Given the description of an element on the screen output the (x, y) to click on. 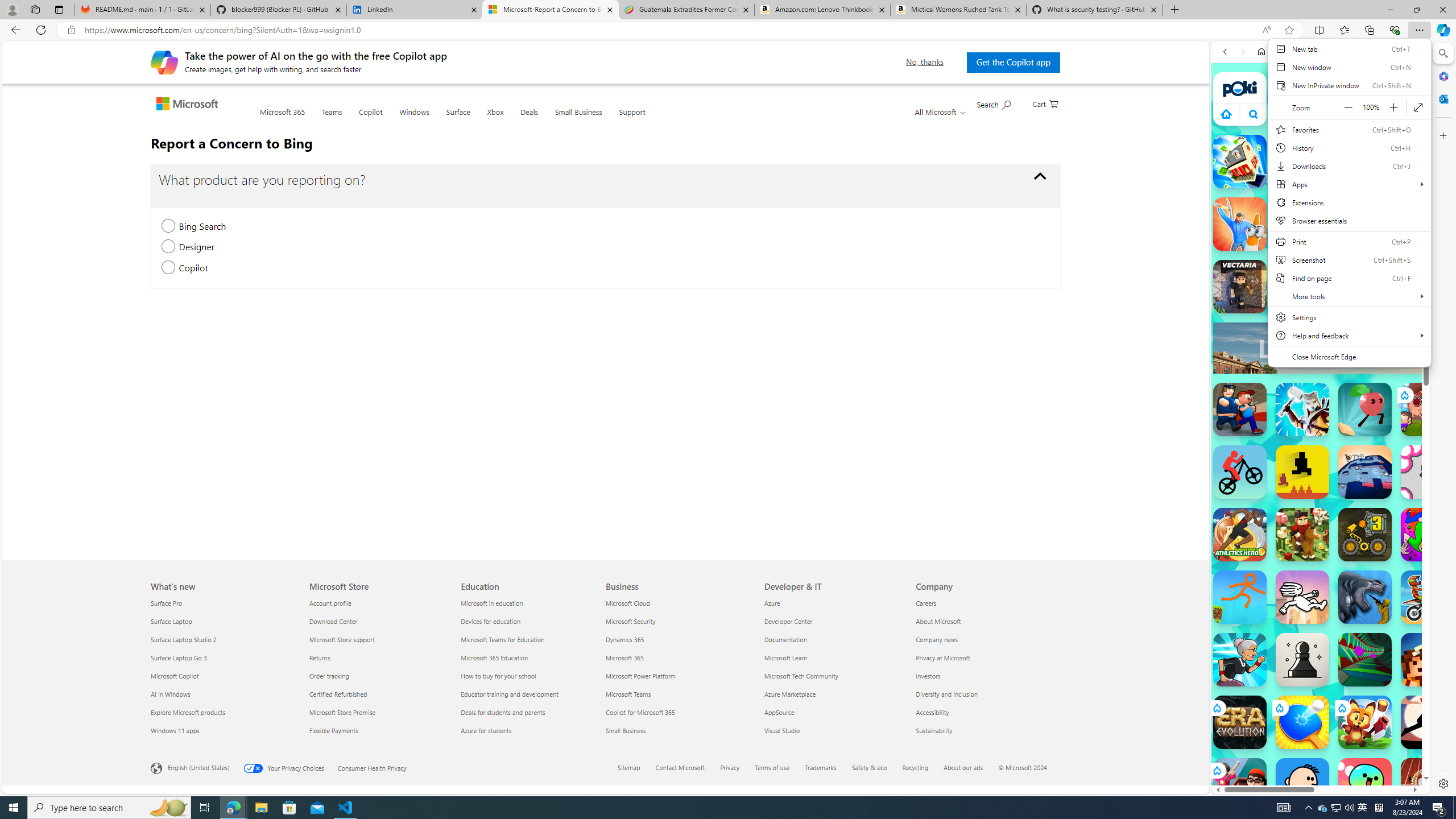
Up Together Up Together (1364, 409)
Developer Center Developer & IT (788, 620)
More tools (1349, 296)
Show More Io Games (1390, 351)
School Escape! School Escape! (1239, 784)
Recycling (922, 768)
Windows (413, 118)
Teams (331, 118)
Surface Pro (223, 602)
Microsoft Learn (833, 657)
Hills of Steel Hills of Steel poki.com (1264, 548)
